Given the description of an element on the screen output the (x, y) to click on. 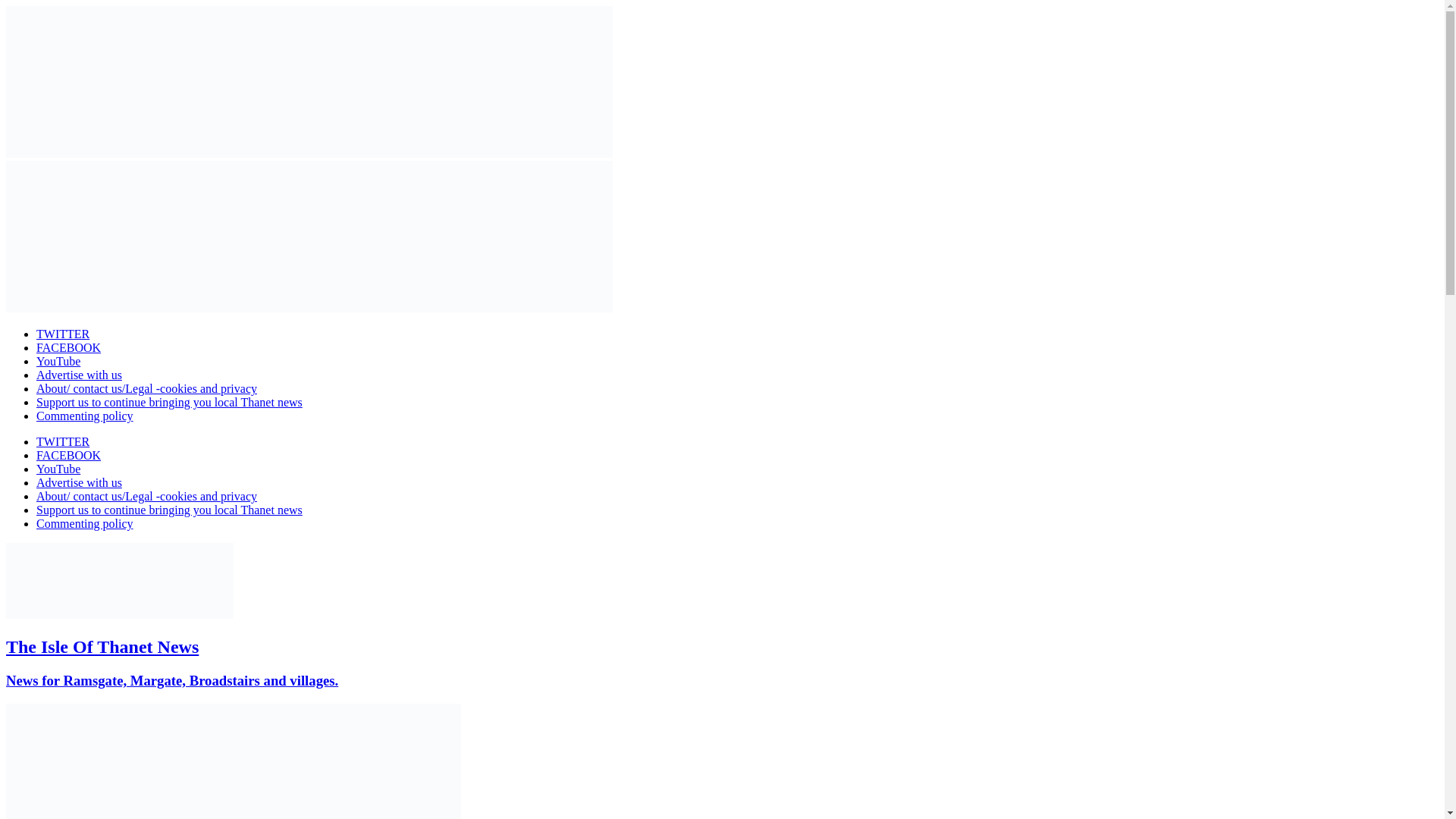
FACEBOOK (68, 347)
YouTube (58, 360)
TWITTER (62, 333)
Advertise with us (79, 481)
FACEBOOK (68, 454)
Commenting policy (84, 522)
Commenting policy (84, 415)
Support us to continue bringing you local Thanet news (169, 401)
Advertise with us (79, 374)
TWITTER (62, 440)
YouTube (58, 468)
Support us to continue bringing you local Thanet news (169, 509)
